Given the description of an element on the screen output the (x, y) to click on. 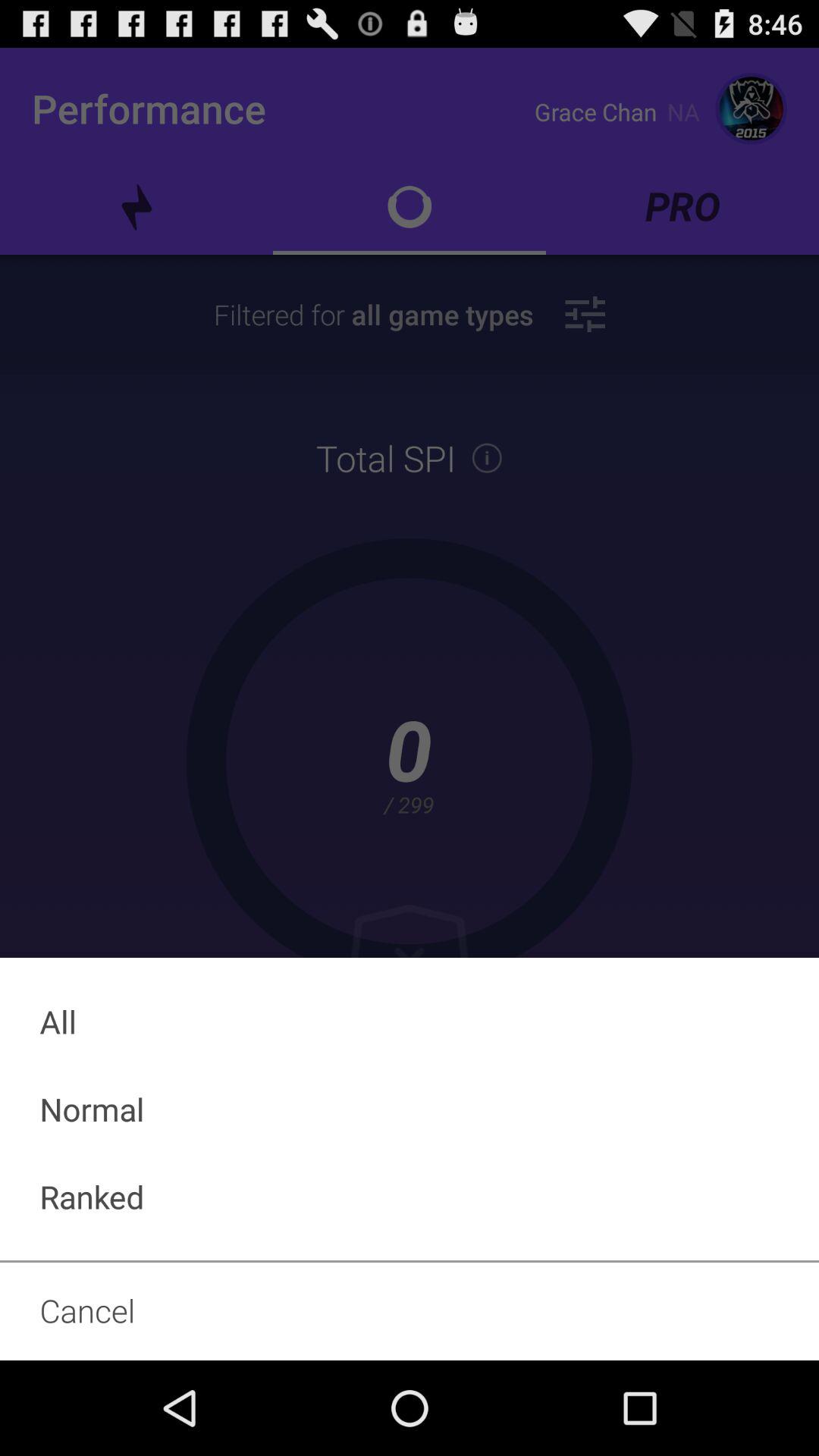
open icon at the center (409, 703)
